Given the description of an element on the screen output the (x, y) to click on. 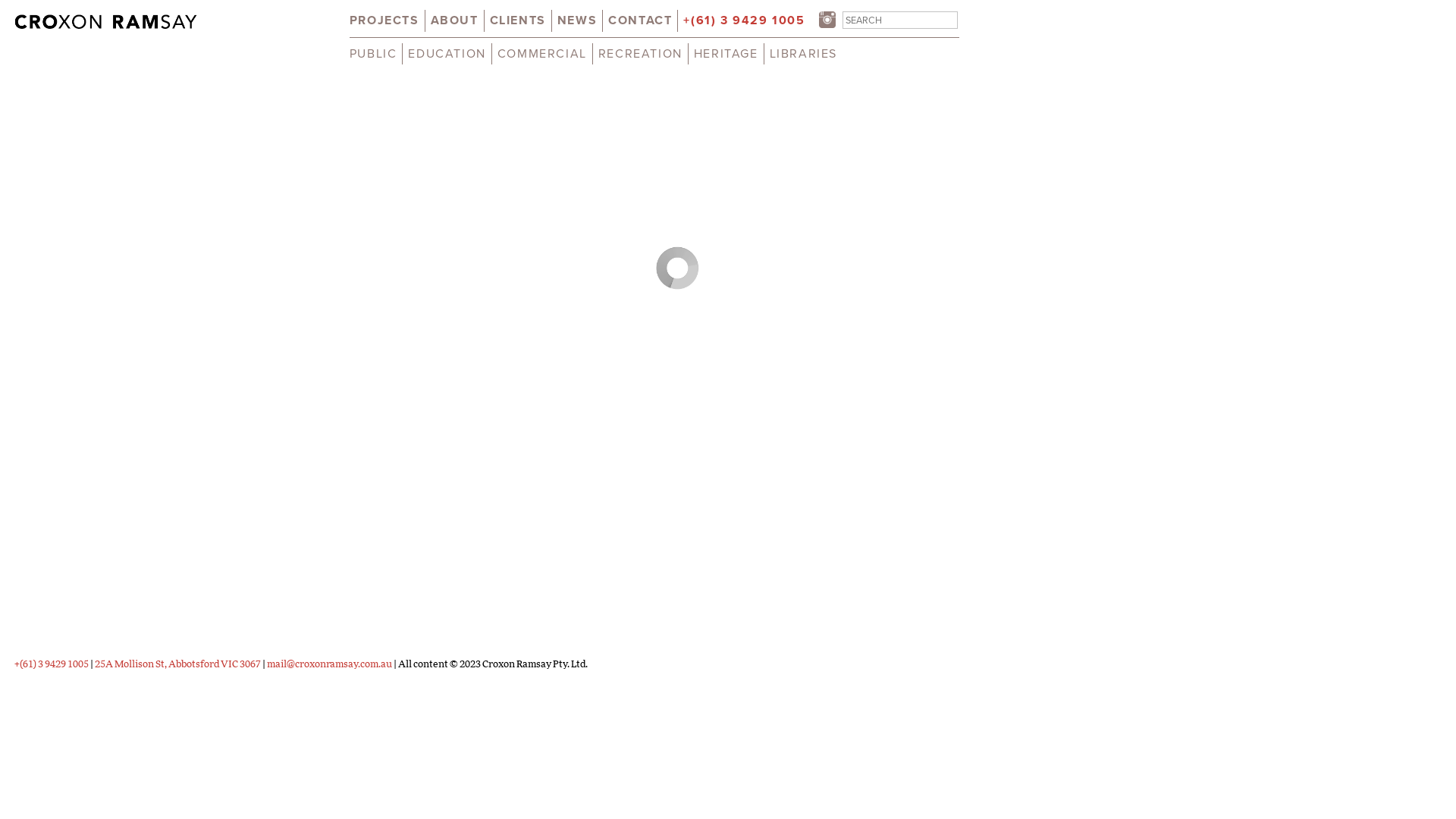
COMMERCIAL Element type: text (541, 53)
CLIENTS Element type: text (517, 20)
RECREATION Element type: text (640, 53)
CONTACT Element type: text (639, 20)
+(61) 3 9429 1005 Element type: text (743, 20)
LIBRARIES Element type: text (803, 53)
25A Mollison St, Abbotsford VIC 3067 Element type: text (177, 664)
PUBLIC Element type: text (373, 53)
NEWS Element type: text (576, 20)
Croxon Ramsay Instagram Element type: hover (827, 22)
+(61) 3 9429 1005 Element type: text (51, 664)
mail@croxonramsay.com.au Element type: text (329, 664)
PROJECTS Element type: text (384, 20)
HERITAGE Element type: text (725, 53)
EDUCATION Element type: text (446, 53)
ABOUT Element type: text (454, 20)
